Given the description of an element on the screen output the (x, y) to click on. 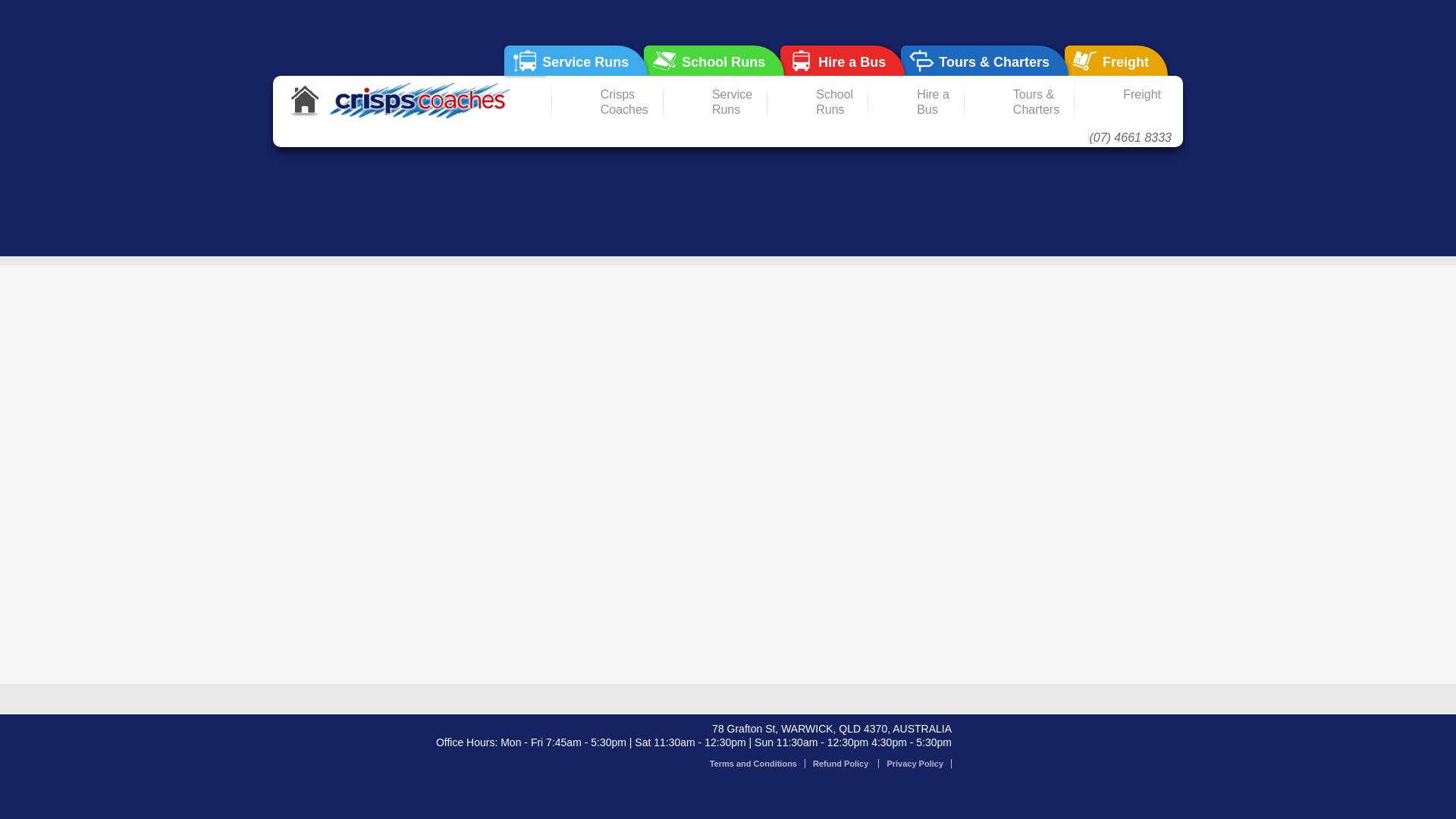
Freight Element type: text (1122, 102)
Crisps
Coaches Element type: text (604, 102)
Service Runs Element type: text (575, 60)
Freight Element type: text (1115, 60)
Privacy Policy Element type: text (914, 763)
Tours &
Charters Element type: text (1016, 102)
Terms and Conditions Element type: text (753, 763)
Hire a
Bus Element type: text (913, 102)
School
Runs Element type: text (814, 102)
Hire a Bus Element type: text (842, 60)
Tours & Charters Element type: text (984, 60)
Service
Runs Element type: text (712, 102)
School Runs Element type: text (713, 60)
Refund Policy Element type: text (841, 763)
